Given the description of an element on the screen output the (x, y) to click on. 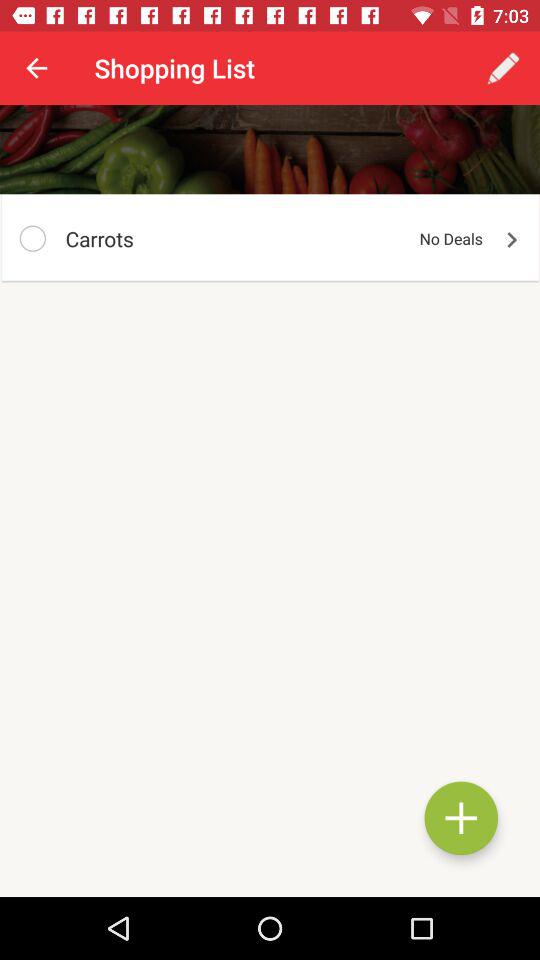
press the item to the left of shopping list icon (36, 68)
